Given the description of an element on the screen output the (x, y) to click on. 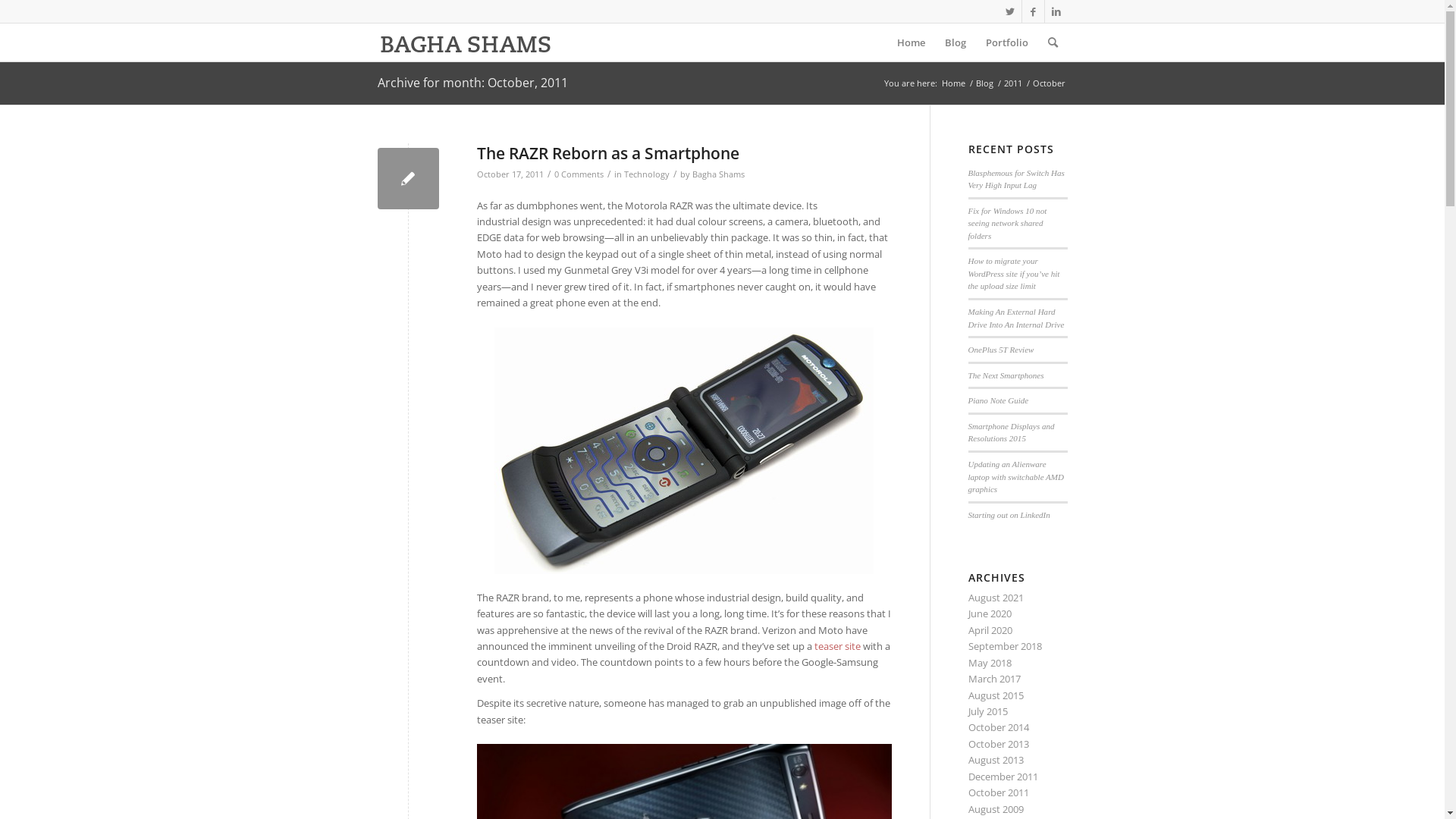
Blasphemous for Switch Has Very High Input Lag Element type: text (1015, 179)
August 2013 Element type: text (994, 759)
April 2020 Element type: text (989, 630)
teaser site Element type: text (837, 645)
October 2011 Element type: text (997, 792)
logo5 Element type: hover (465, 42)
June 2020 Element type: text (988, 613)
Starting out on LinkedIn Element type: text (1008, 514)
October 2014 Element type: text (997, 727)
May 2018 Element type: text (988, 662)
October 2013 Element type: text (997, 743)
The Next Smartphones Element type: text (1005, 374)
Blog Element type: text (954, 42)
December 2011 Element type: text (1002, 776)
Piano Note Guide Element type: text (997, 399)
August 2009 Element type: text (994, 808)
Technology Element type: text (645, 174)
Motorola RAZR V3i Element type: hover (683, 450)
The RAZR Reborn as a Smartphone Element type: hover (408, 178)
Updating an Alienware laptop with switchable AMD graphics Element type: text (1015, 476)
Smartphone Displays and Resolutions 2015 Element type: text (1010, 432)
September 2018 Element type: text (1004, 645)
Making An External Hard Drive Into An Internal Drive Element type: text (1015, 318)
July 2015 Element type: text (987, 711)
The RAZR Reborn as a Smartphone Element type: text (607, 152)
Portfolio Element type: text (1006, 42)
LinkedIn Element type: hover (1055, 11)
Blog Element type: text (984, 82)
March 2017 Element type: text (993, 678)
August 2015 Element type: text (994, 695)
0 Comments Element type: text (577, 174)
Home Element type: text (911, 42)
OnePlus 5T Review Element type: text (1000, 349)
2011 Element type: text (1012, 82)
Bagha Shams Element type: text (717, 174)
Twitter Element type: hover (1010, 11)
Home Element type: text (952, 82)
August 2021 Element type: text (994, 597)
Fix for Windows 10 not seeing network shared folders Element type: text (1006, 223)
Facebook Element type: hover (1033, 11)
